Given the description of an element on the screen output the (x, y) to click on. 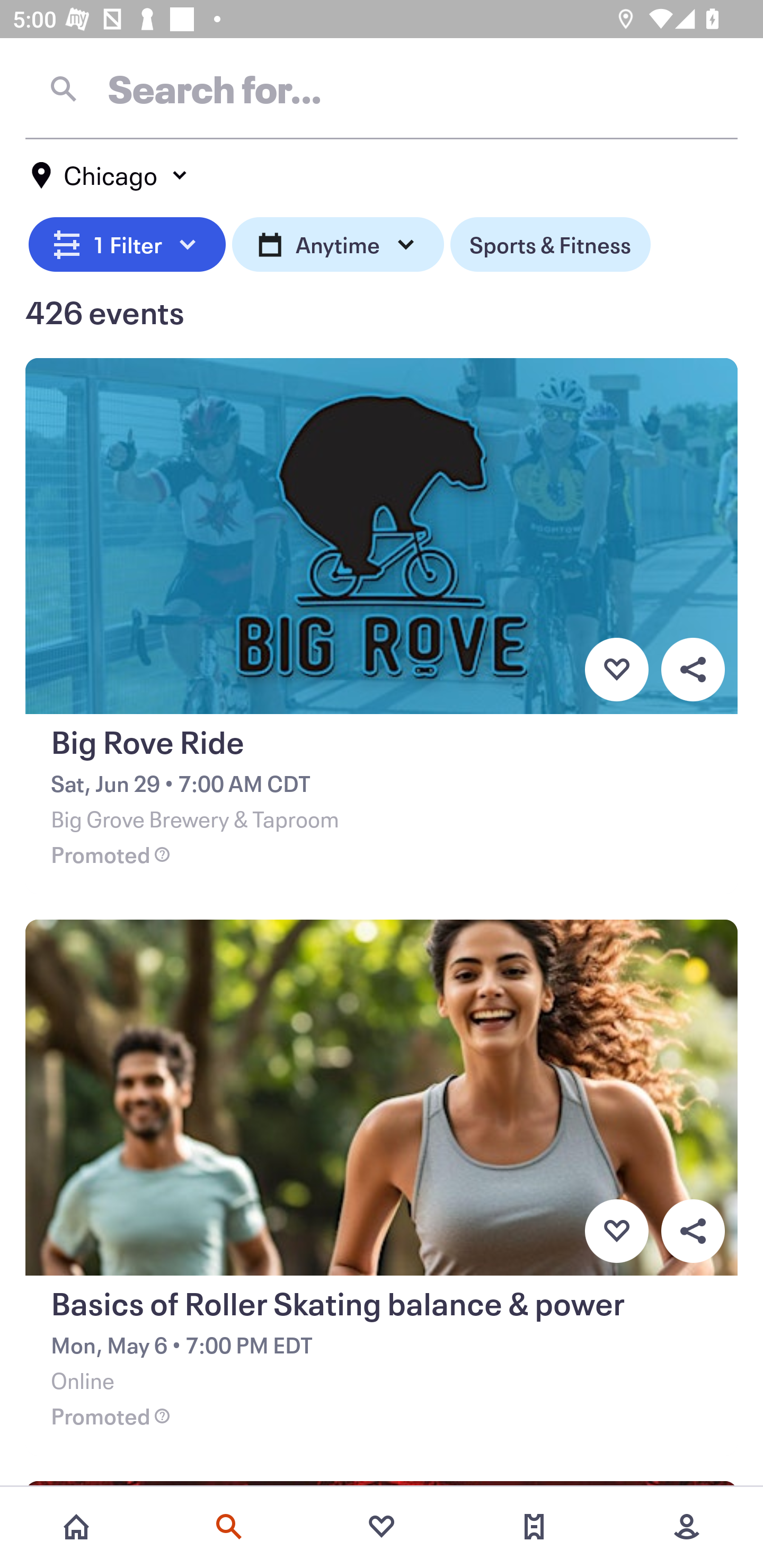
Search for… (381, 88)
Chicago (110, 175)
1 Filter (126, 241)
Anytime (337, 241)
Sports & Fitness (550, 241)
Favorite button (616, 669)
Overflow menu button (692, 669)
Favorite button (616, 1230)
Overflow menu button (692, 1230)
Home (76, 1526)
Search events (228, 1526)
Favorites (381, 1526)
Tickets (533, 1526)
More (686, 1526)
